Given the description of an element on the screen output the (x, y) to click on. 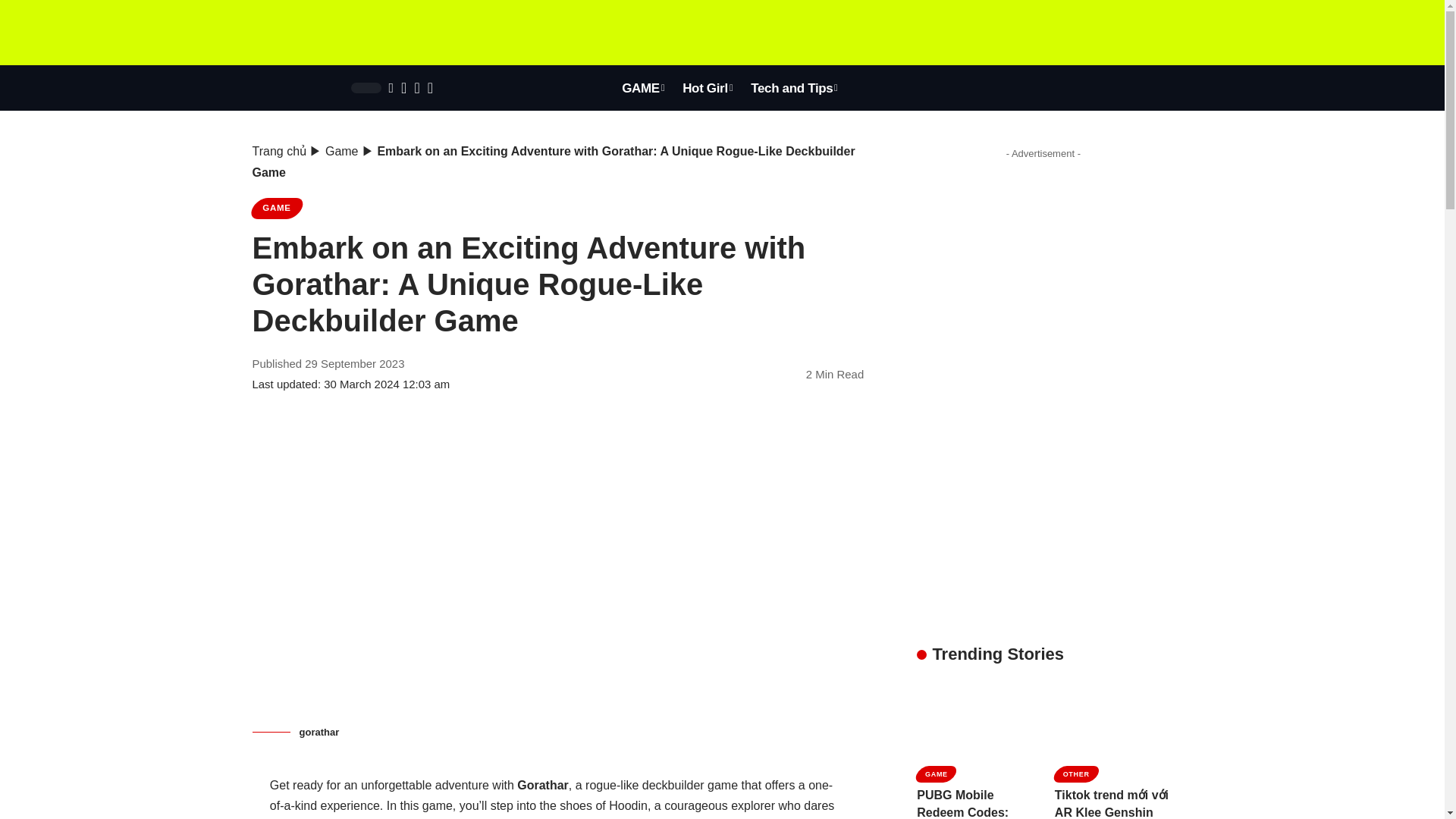
Game (341, 151)
PUBG Mobile Redeem Codes: August 2023 (974, 720)
Tech and Tips (794, 87)
GAME (276, 208)
Hot Girl (706, 87)
GAME (642, 87)
